Given the description of an element on the screen output the (x, y) to click on. 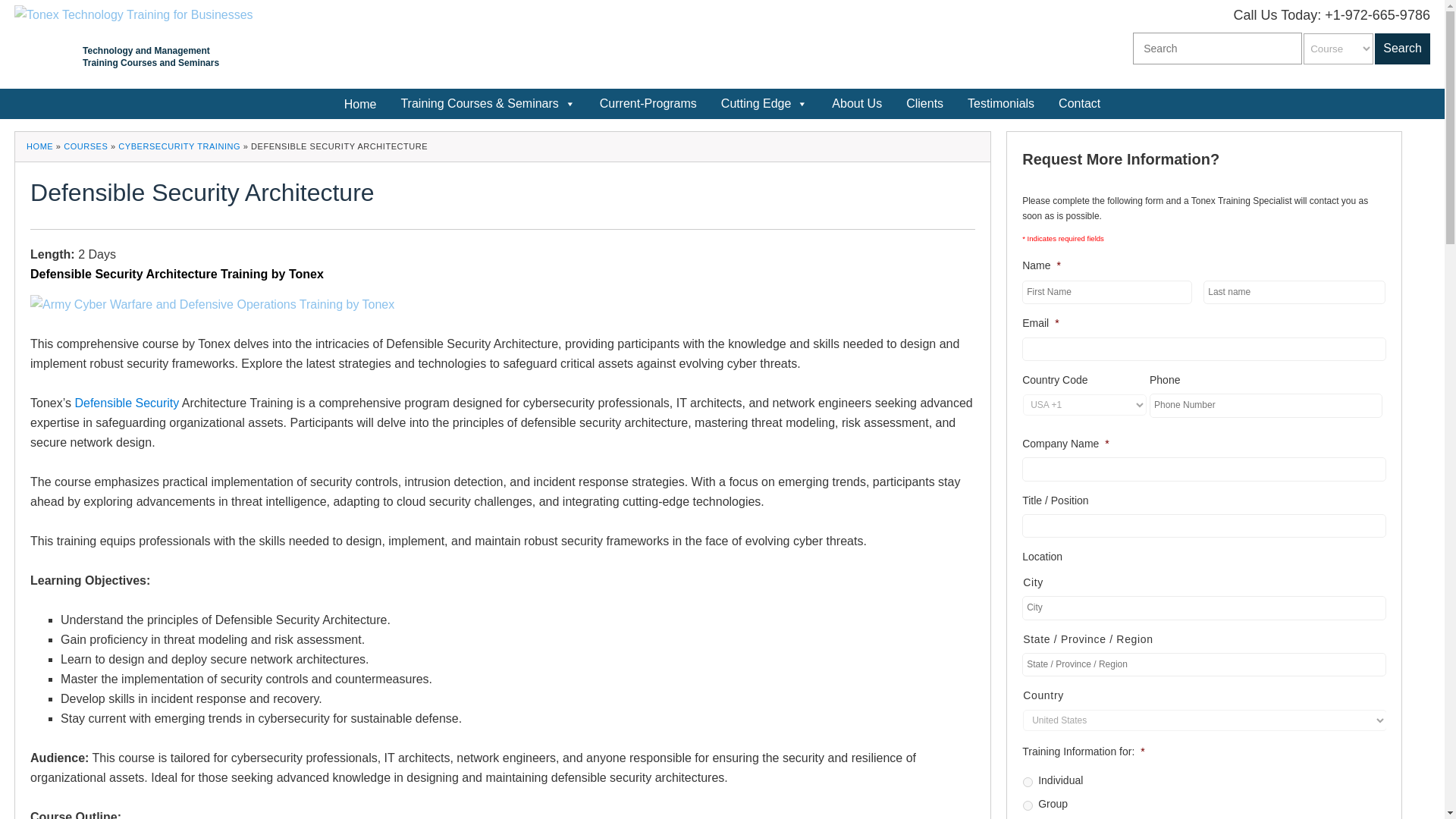
Home (359, 103)
Search (1401, 48)
Search (1401, 48)
Tonex Training (133, 13)
